Given the description of an element on the screen output the (x, y) to click on. 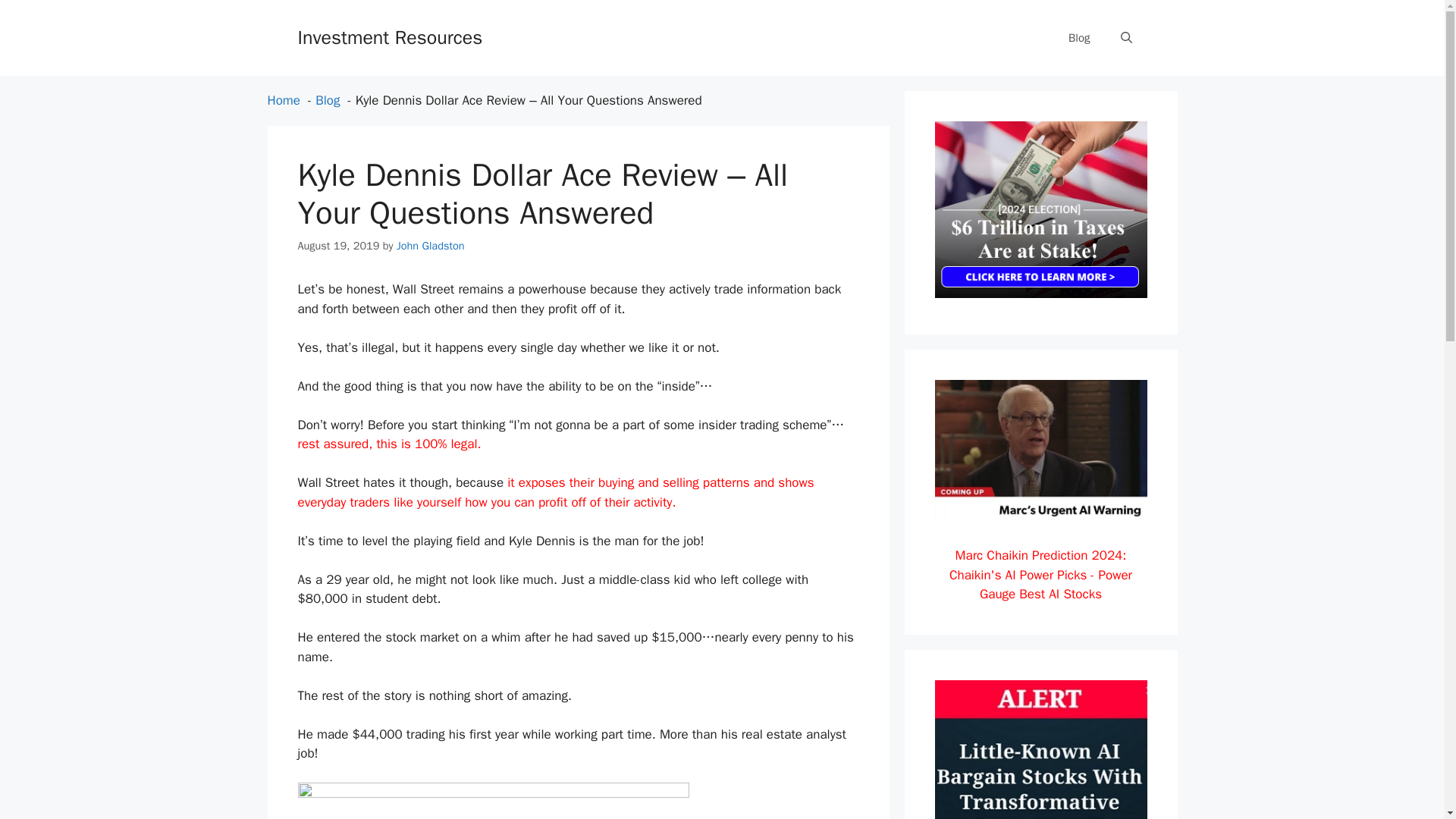
View all posts by John Gladston (430, 244)
Blog (1078, 37)
Home (282, 100)
John Gladston (430, 244)
Blog (327, 100)
Investment Resources (389, 37)
